Given the description of an element on the screen output the (x, y) to click on. 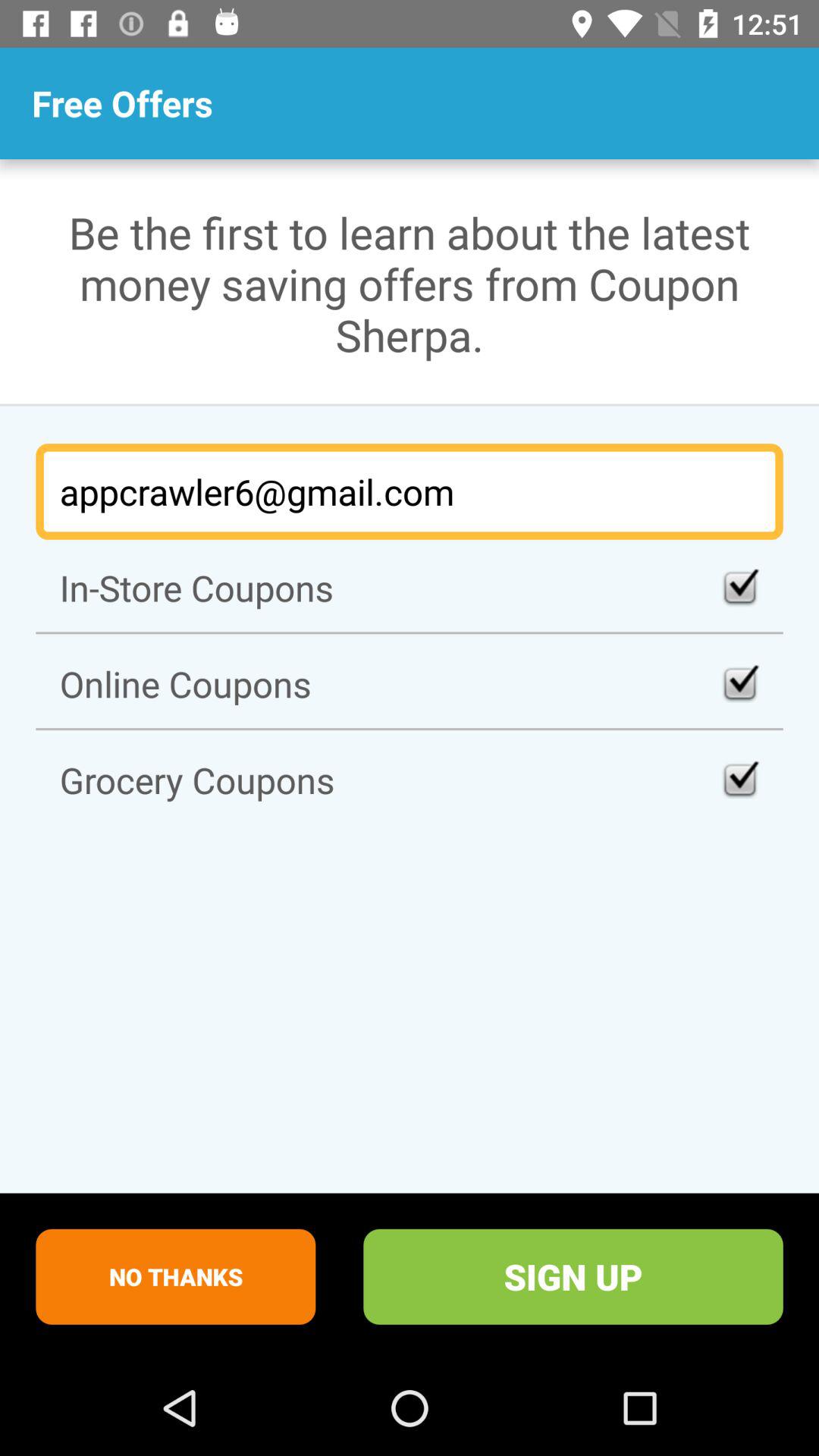
choose icon below the in-store coupons (409, 683)
